Given the description of an element on the screen output the (x, y) to click on. 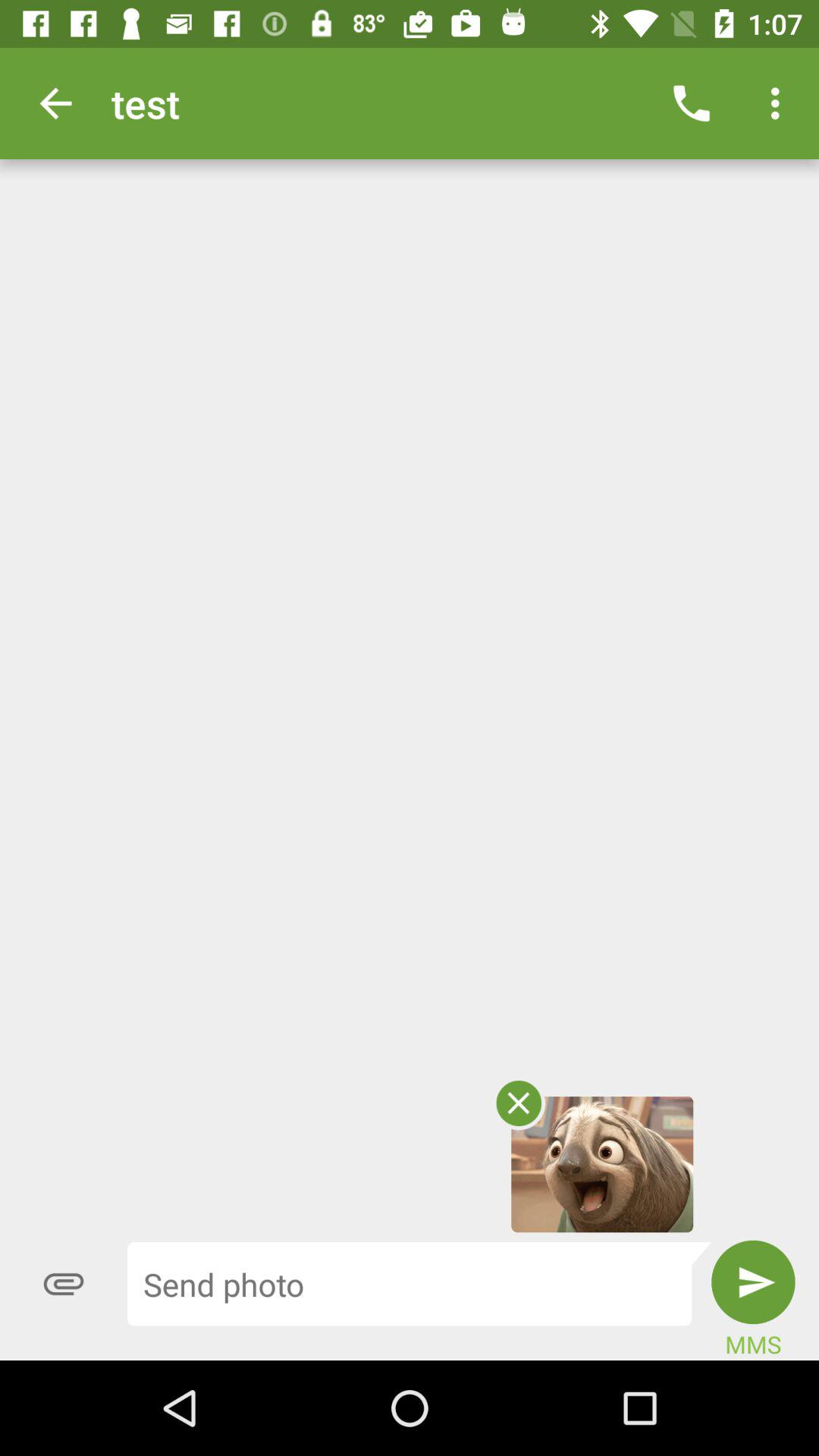
tap the item next to test icon (691, 103)
